Given the description of an element on the screen output the (x, y) to click on. 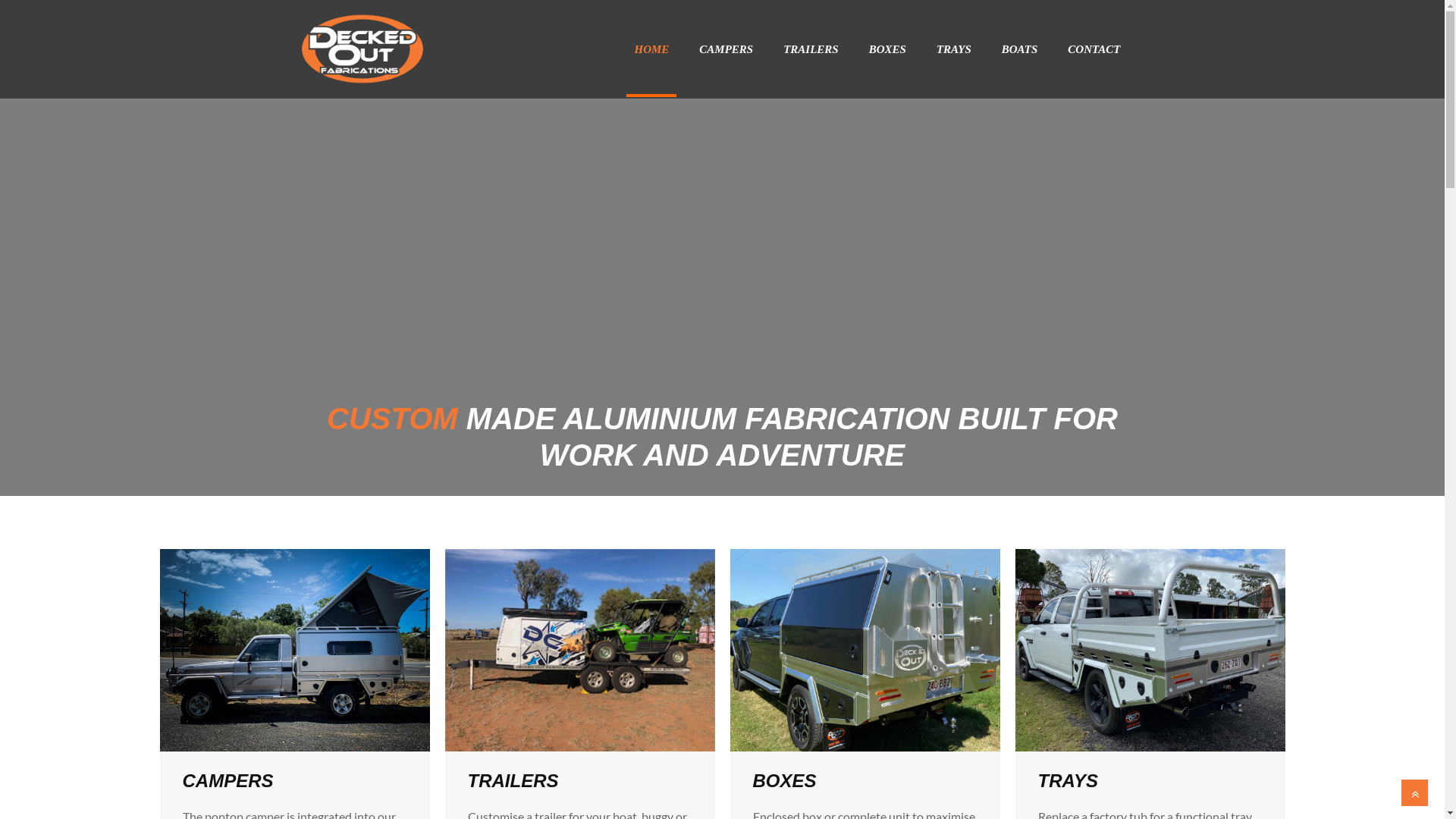
TRAYS Element type: text (1067, 770)
BOXES Element type: text (887, 48)
CAMPERS Element type: text (227, 770)
TRAILERS Element type: text (810, 48)
HOME Element type: text (651, 48)
CONTACT Element type: text (1093, 48)
Back to Top Element type: hover (1414, 792)
BOXES Element type: text (783, 770)
TRAYS Element type: text (953, 48)
BOATS Element type: text (1019, 48)
CAMPERS Element type: text (725, 48)
TRAILERS Element type: text (512, 770)
